Given the description of an element on the screen output the (x, y) to click on. 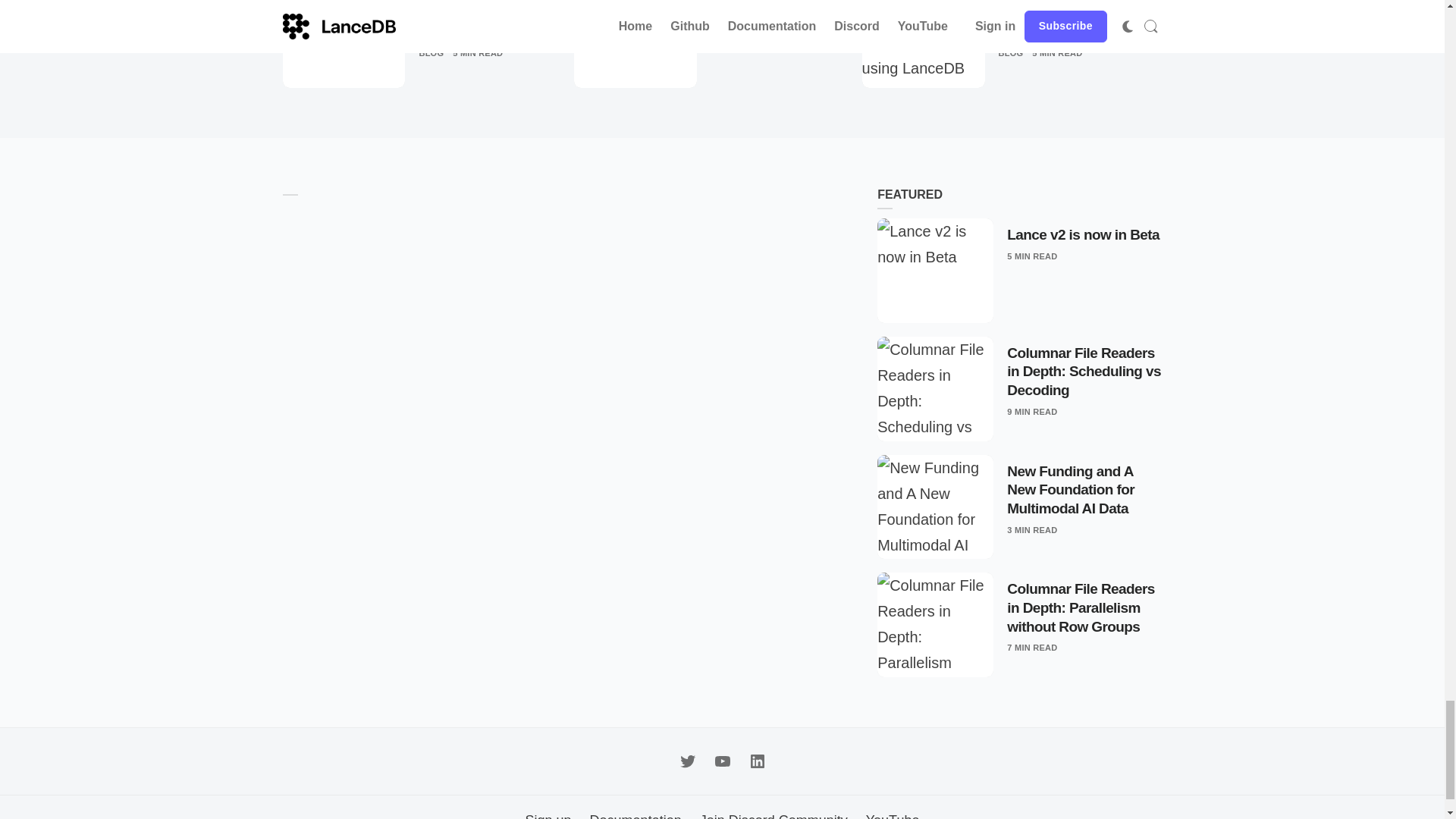
Multimodal Myntra Fashion Search Engine using LanceDB (1079, 20)
Create LLM apps using RAG (770, 11)
BLOG (722, 34)
BLOG (430, 53)
